Given the description of an element on the screen output the (x, y) to click on. 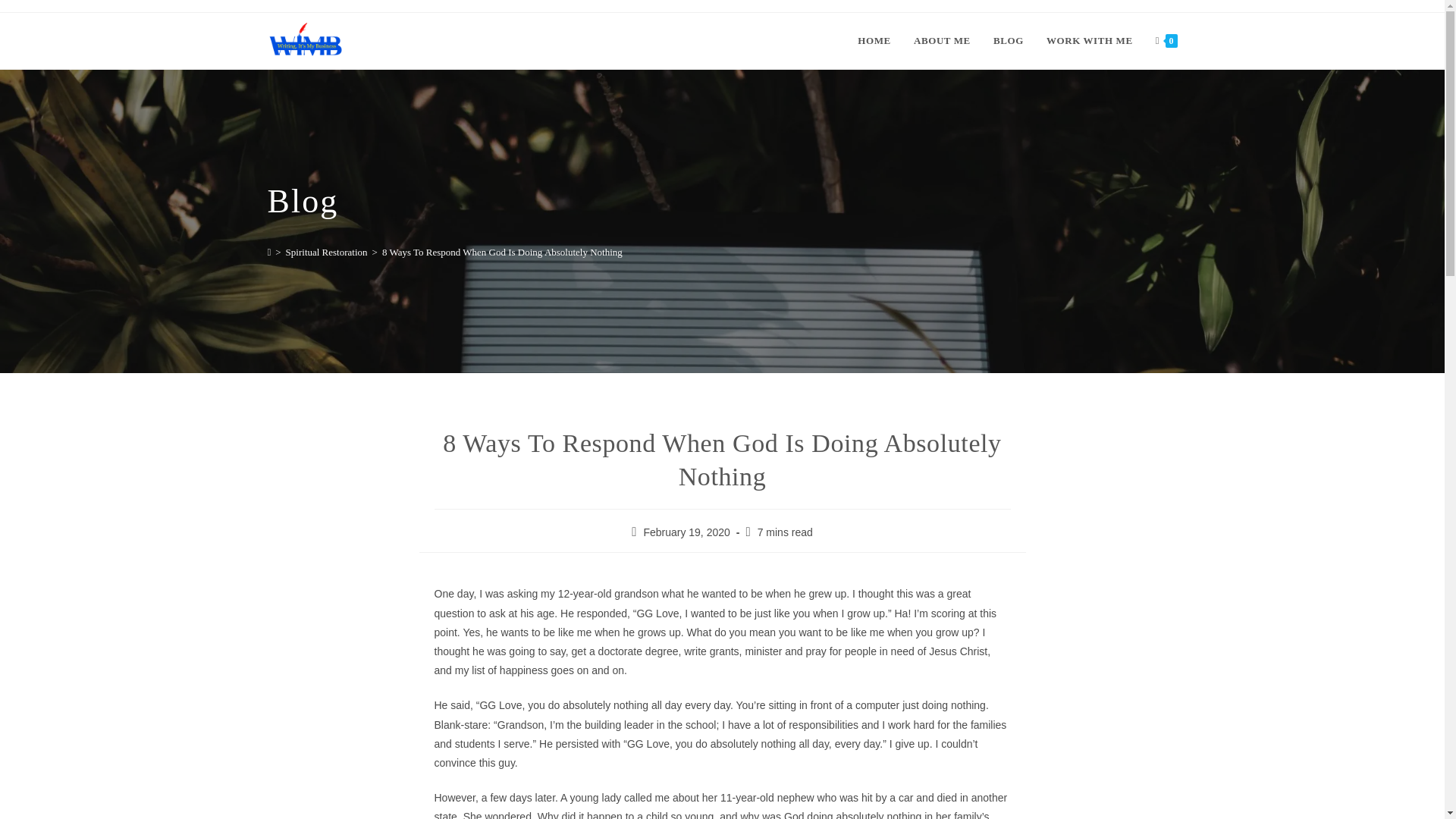
8 Ways To Respond When God Is Doing Absolutely Nothing (502, 251)
ABOUT ME (941, 40)
BLOG (1008, 40)
HOME (873, 40)
Spiritual Restoration (326, 251)
WORK WITH ME (1089, 40)
